Given the description of an element on the screen output the (x, y) to click on. 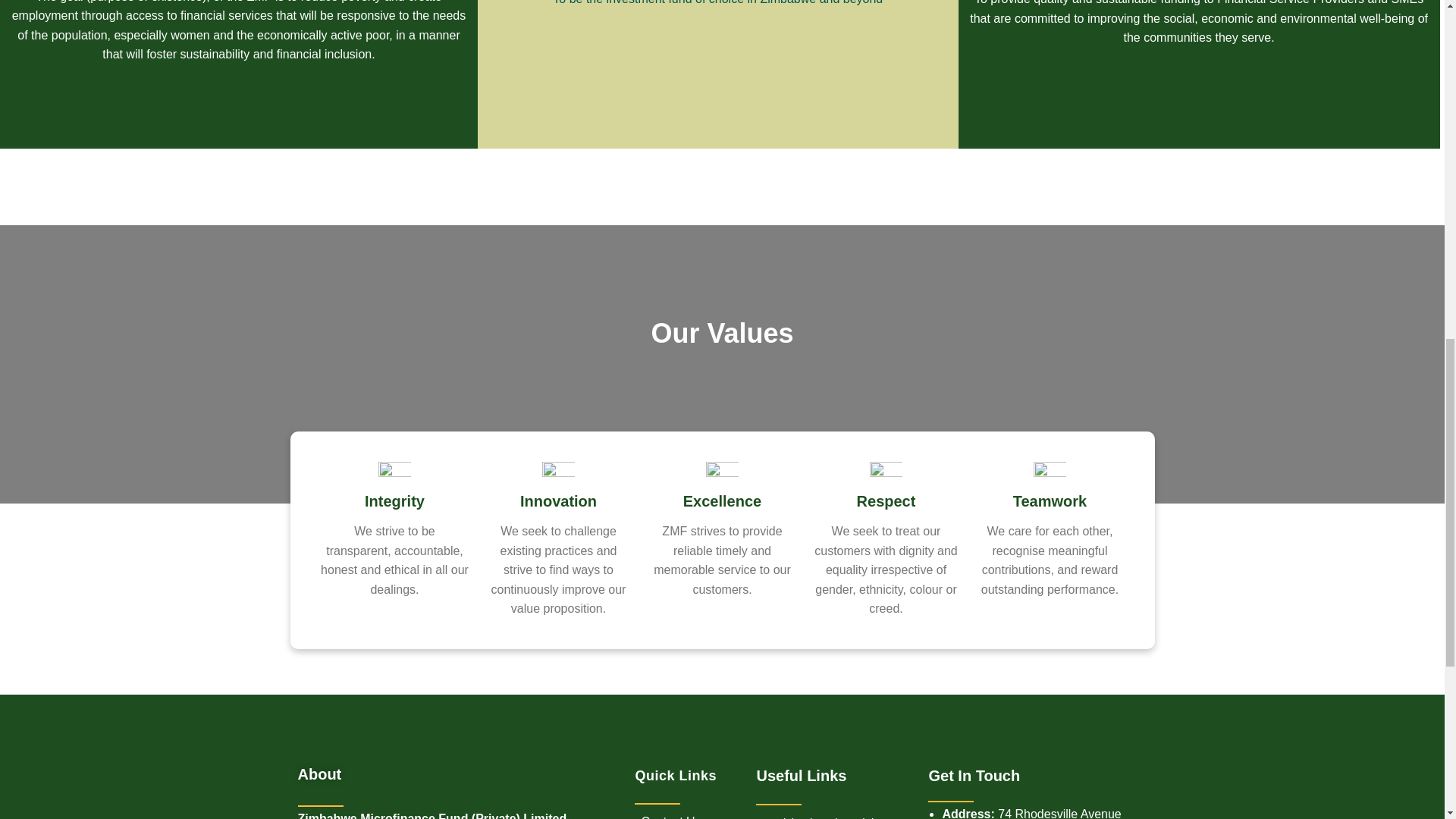
Contact Us (667, 812)
Participating Financial Service Providers (822, 813)
